Given the description of an element on the screen output the (x, y) to click on. 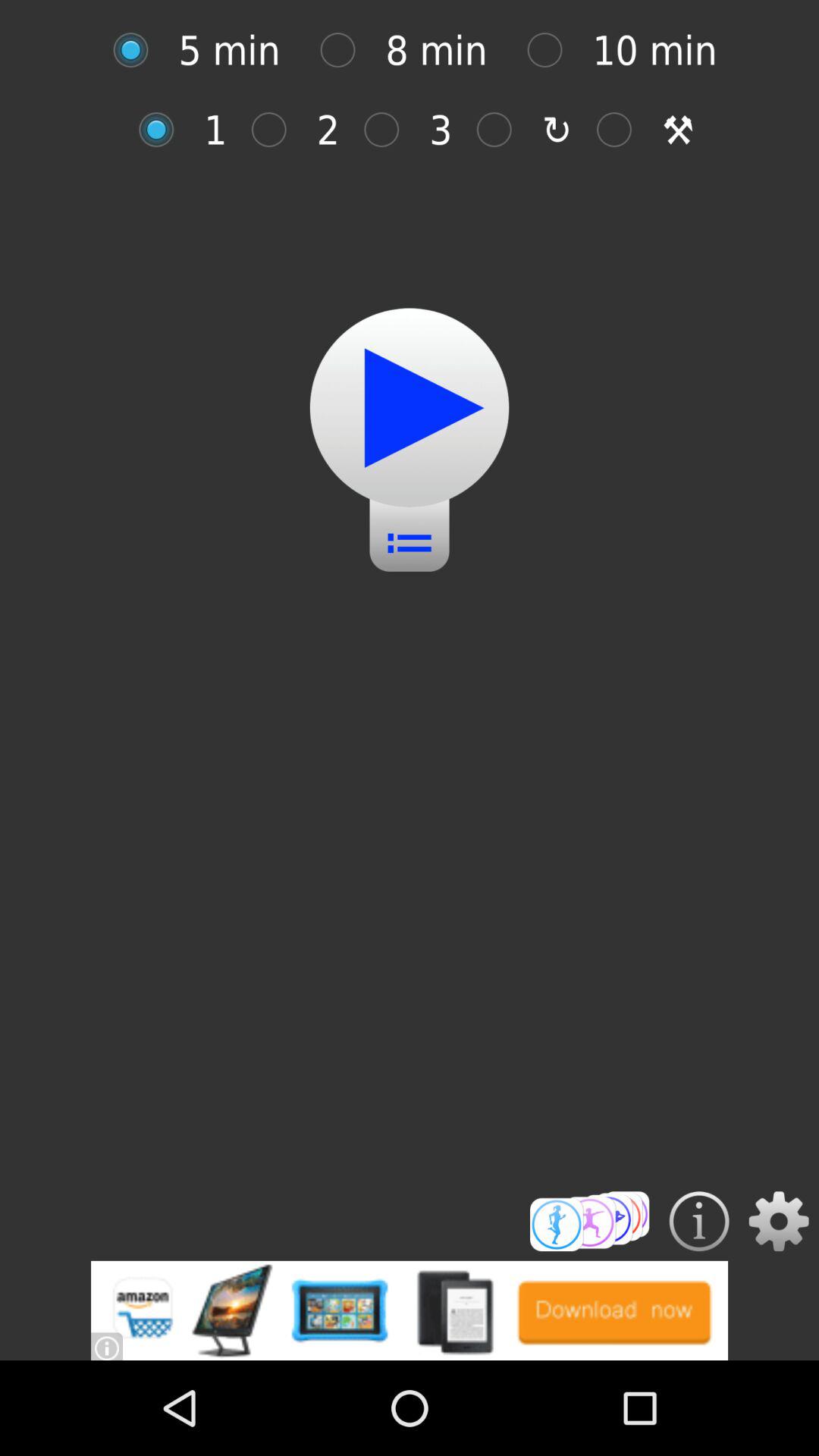
5 minute duration (138, 49)
